Given the description of an element on the screen output the (x, y) to click on. 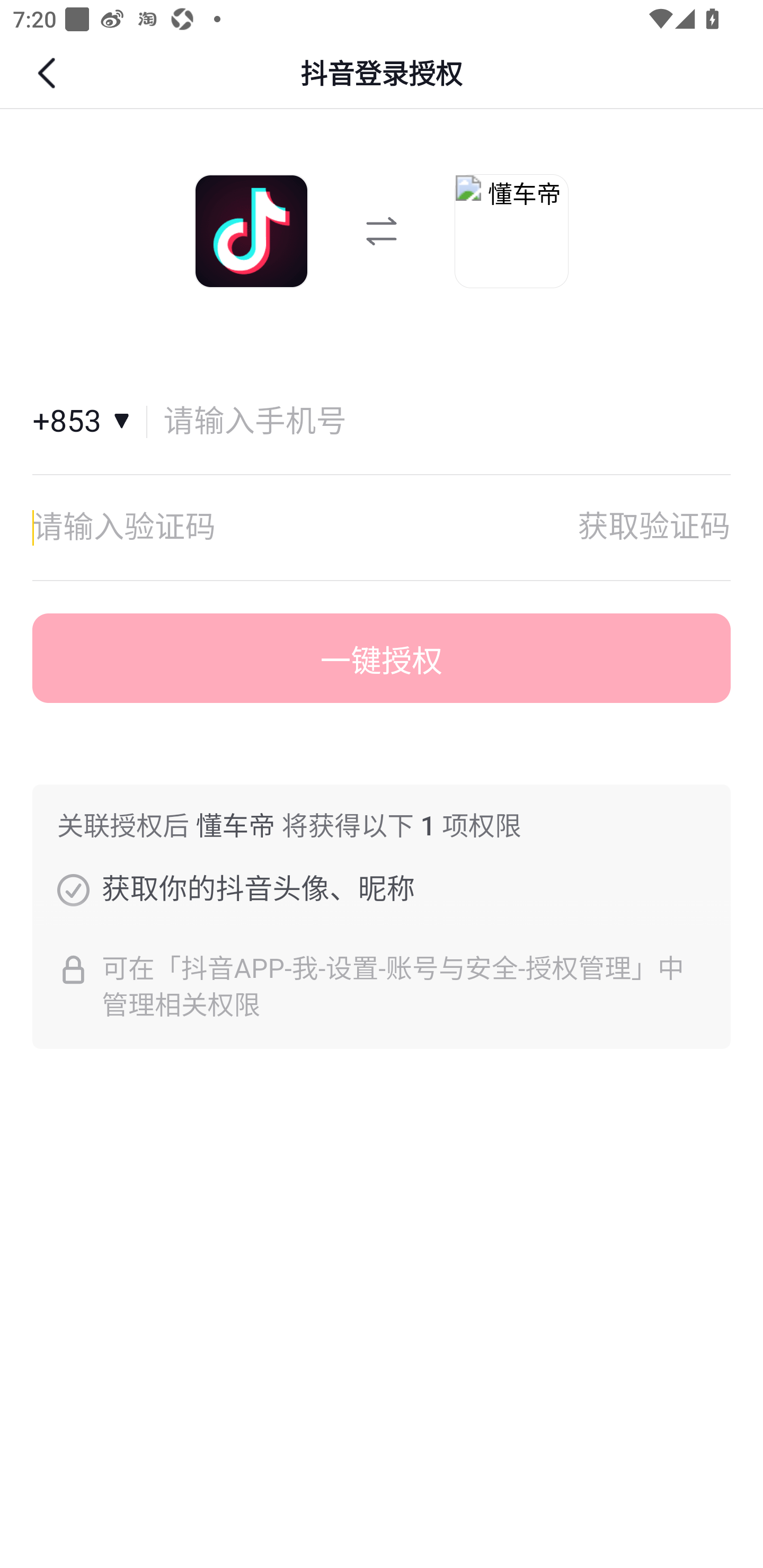
返回 (49, 72)
国家和地区+853 (90, 421)
获取验证码 (653, 526)
一键授权 (381, 658)
获取你的抖音头像、昵称 (72, 889)
